Given the description of an element on the screen output the (x, y) to click on. 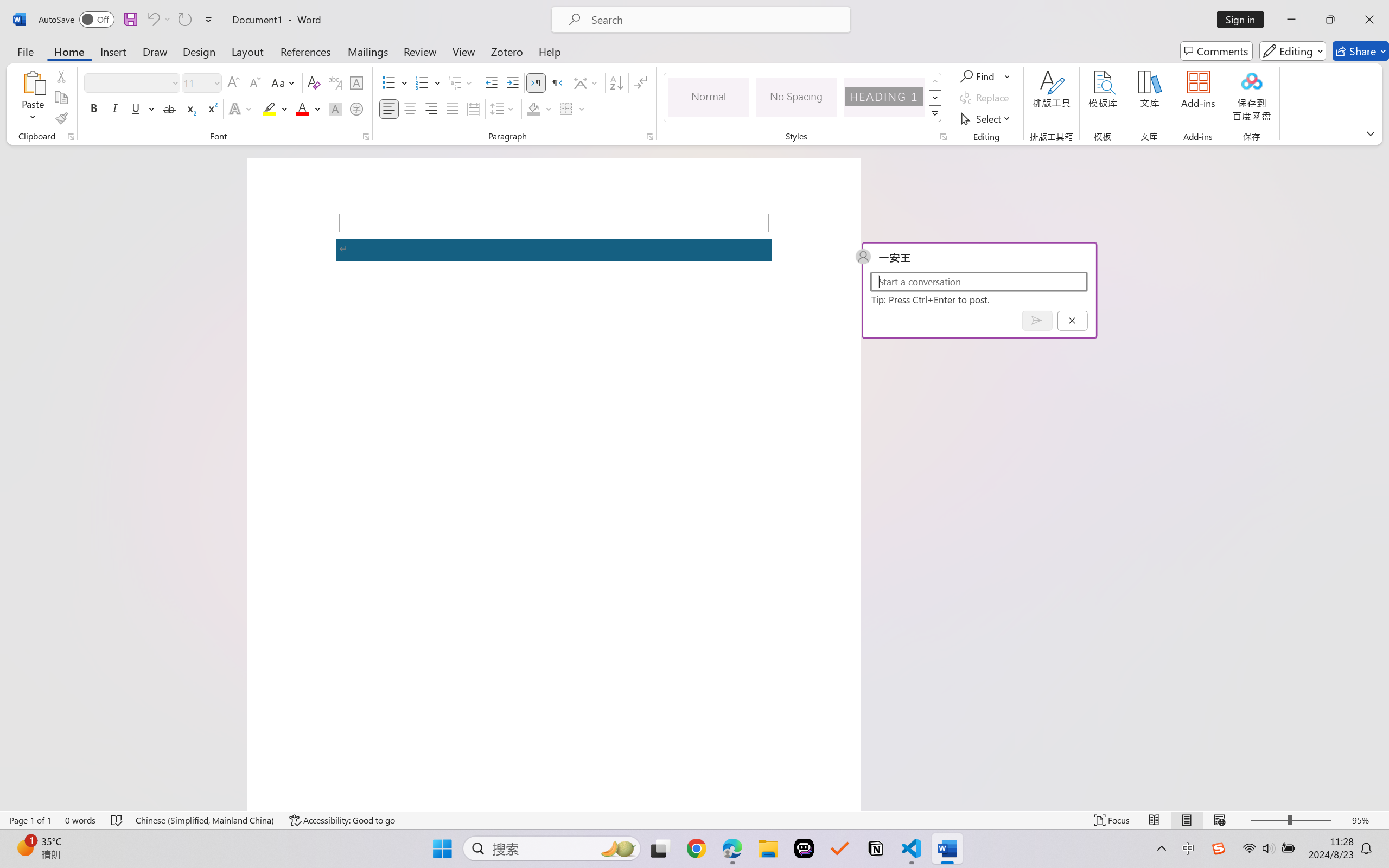
Start a conversation (978, 281)
